Given the description of an element on the screen output the (x, y) to click on. 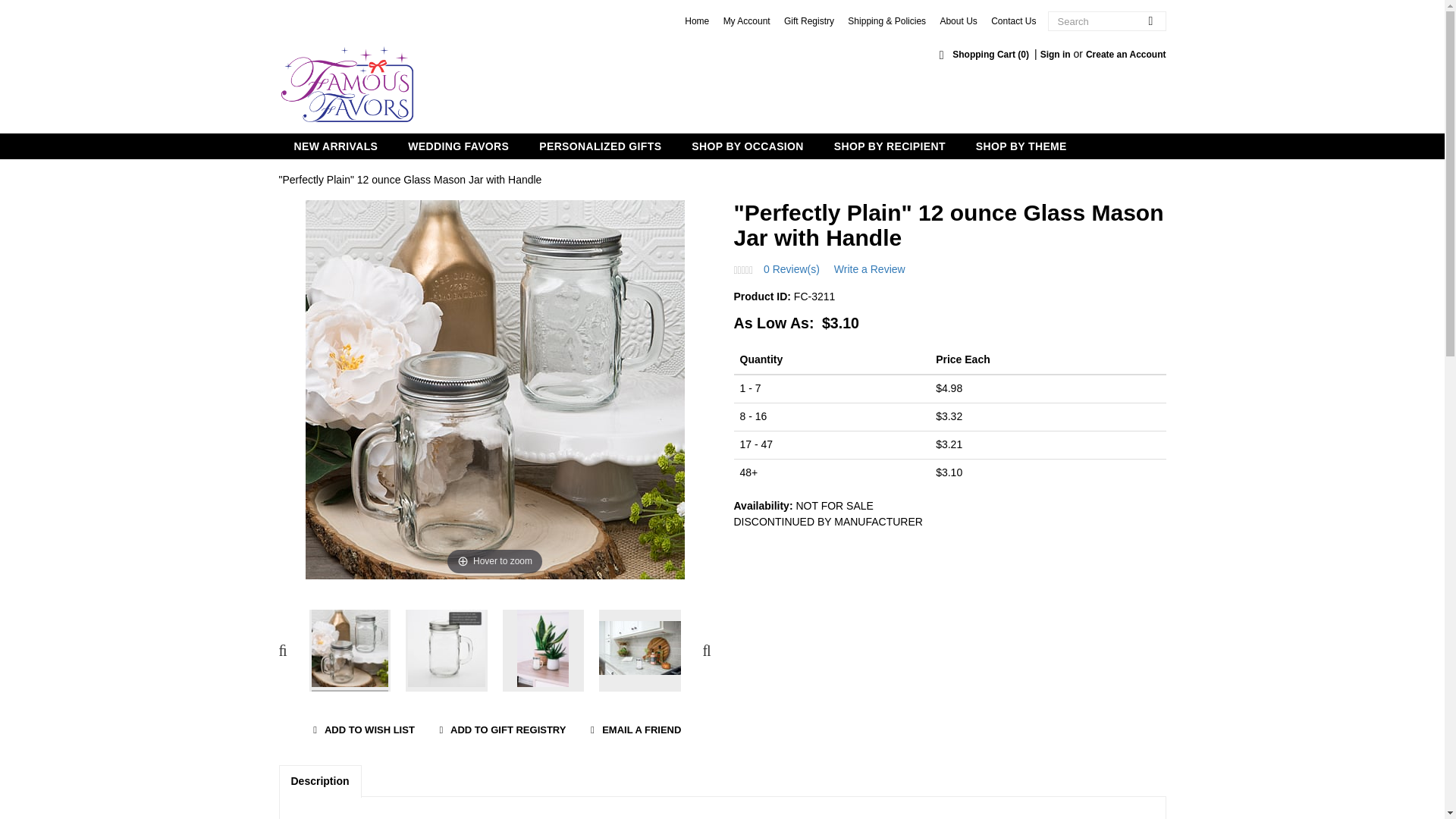
Hover to zoom (494, 388)
Sign in (1055, 54)
EMAIL A FRIEND (633, 730)
About Us (957, 20)
SHOP BY RECIPIENT (889, 145)
"Perfectly Plain" 12 ounce Glass Mason Jar with Handle (410, 179)
NEW ARRIVALS (336, 145)
WEDDING FAVORS (458, 145)
ADD TO GIFT REGISTRY (500, 730)
SHOP BY OCCASION (747, 145)
PERSONALIZED GIFTS (600, 145)
Home (696, 20)
Create an Account (1126, 54)
